Given the description of an element on the screen output the (x, y) to click on. 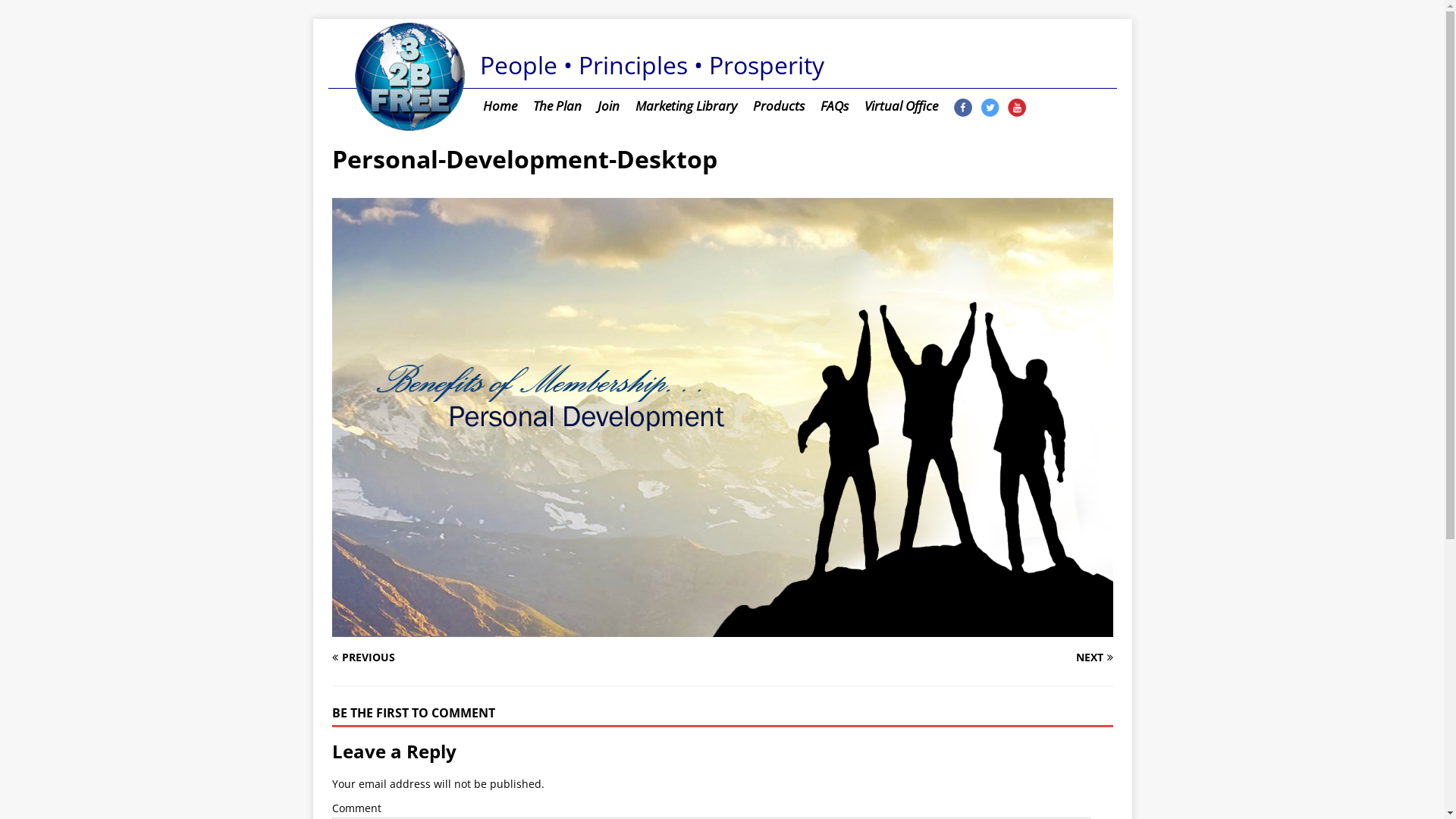
FAQs Element type: text (833, 106)
The Plan Element type: text (556, 106)
Home Element type: text (499, 106)
Join Element type: text (607, 106)
PREVIOUS Element type: text (522, 657)
NEXT Element type: text (921, 657)
Personal-Development-Desktop Element type: hover (722, 628)
Products Element type: text (778, 106)
Virtual Office Element type: text (899, 106)
Marketing Library Element type: text (684, 106)
